Given the description of an element on the screen output the (x, y) to click on. 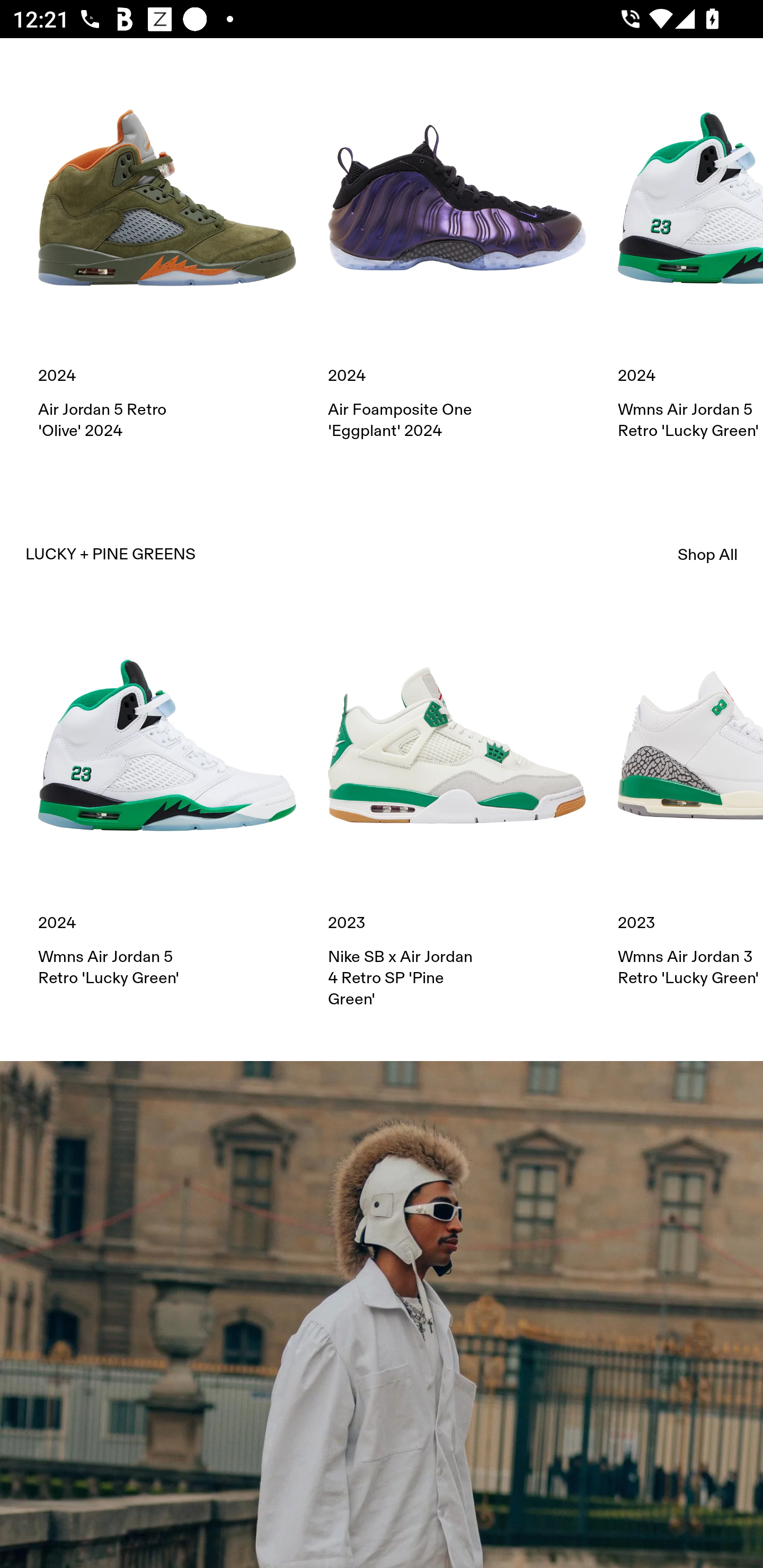
2024 Air Jordan 5 Retro 'Olive' 2024 (167, 255)
2024 Air Foamposite One 'Eggplant' 2024 (456, 255)
2024 Wmns Air Jordan 5 Retro 'Lucky Green' (690, 255)
Shop All (707, 554)
2024 Wmns Air Jordan 5 Retro 'Lucky Green' (167, 802)
2023 Nike SB x Air Jordan 4 Retro SP 'Pine Green' (456, 812)
2023 Wmns Air Jordan 3 Retro 'Lucky Green' (690, 802)
